Given the description of an element on the screen output the (x, y) to click on. 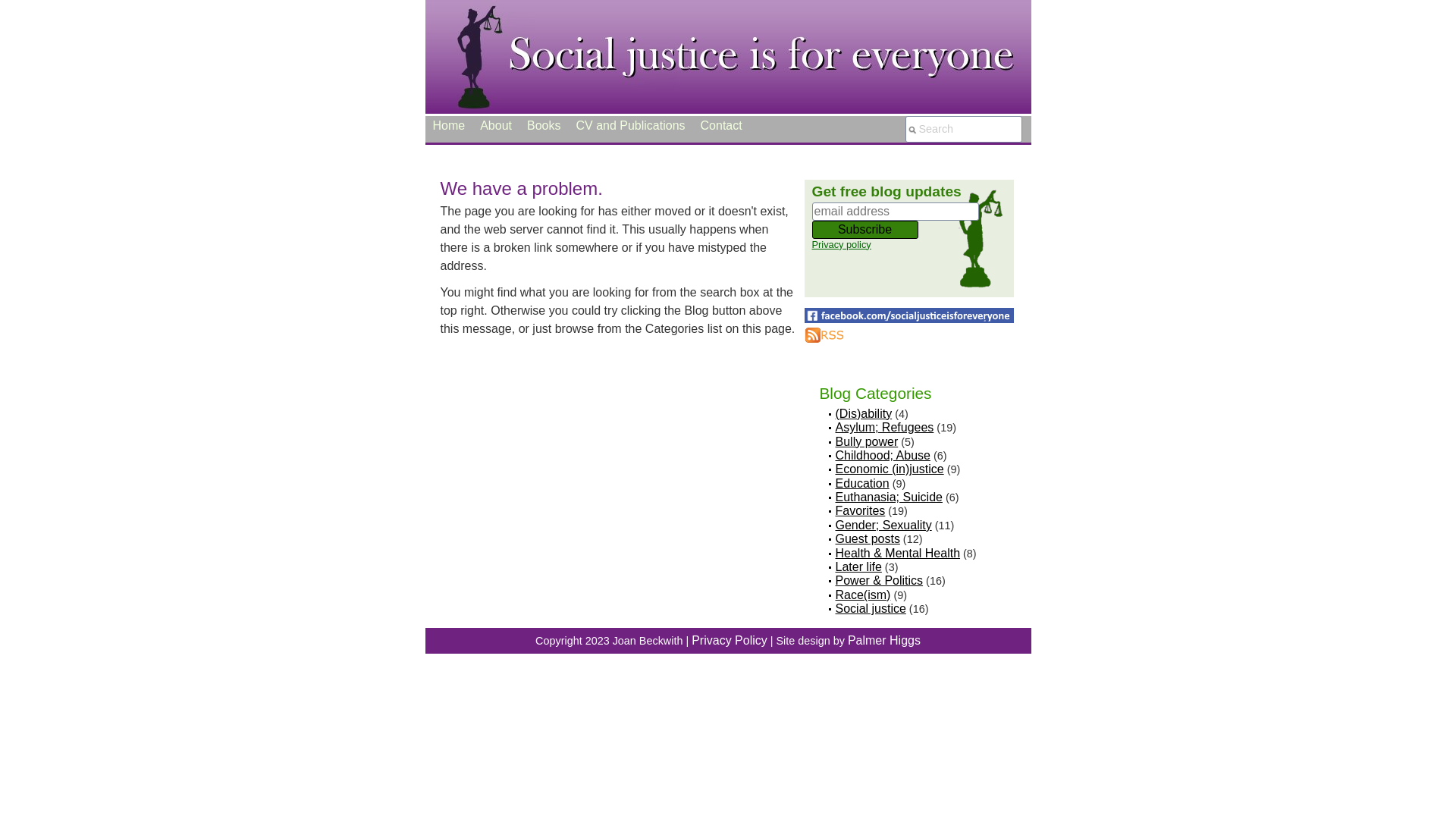
Asylum; Refugees Element type: text (884, 426)
Later life Element type: text (858, 566)
Privacy Policy Element type: text (729, 639)
Health & Mental Health Element type: text (897, 552)
Favorites Element type: text (860, 510)
Home Element type: text (448, 125)
(Dis)ability Element type: text (863, 413)
Contact Element type: text (721, 125)
Guest posts Element type: text (867, 538)
Palmer Higgs Element type: text (883, 639)
Subscribe to this blog with RSS Element type: hover (823, 334)
Euthanasia; Suicide Element type: text (888, 496)
Please check your email address before clicking here Element type: hover (912, 229)
Education Element type: text (862, 482)
Privacy policy Element type: text (840, 244)
Race(ism) Element type: text (863, 594)
the SocialJusticeisforEveryone facebook page Element type: hover (908, 315)
Subscribe Element type: text (864, 229)
About Element type: text (495, 125)
Bully power Element type: text (866, 441)
CV and Publications Element type: text (629, 125)
Childhood; Abuse Element type: text (882, 454)
Social justice Element type: text (870, 608)
Gender; Sexuality Element type: text (883, 524)
Books Element type: text (543, 125)
Power & Politics Element type: text (879, 580)
Economic (in)justice Element type: text (889, 468)
